Given the description of an element on the screen output the (x, y) to click on. 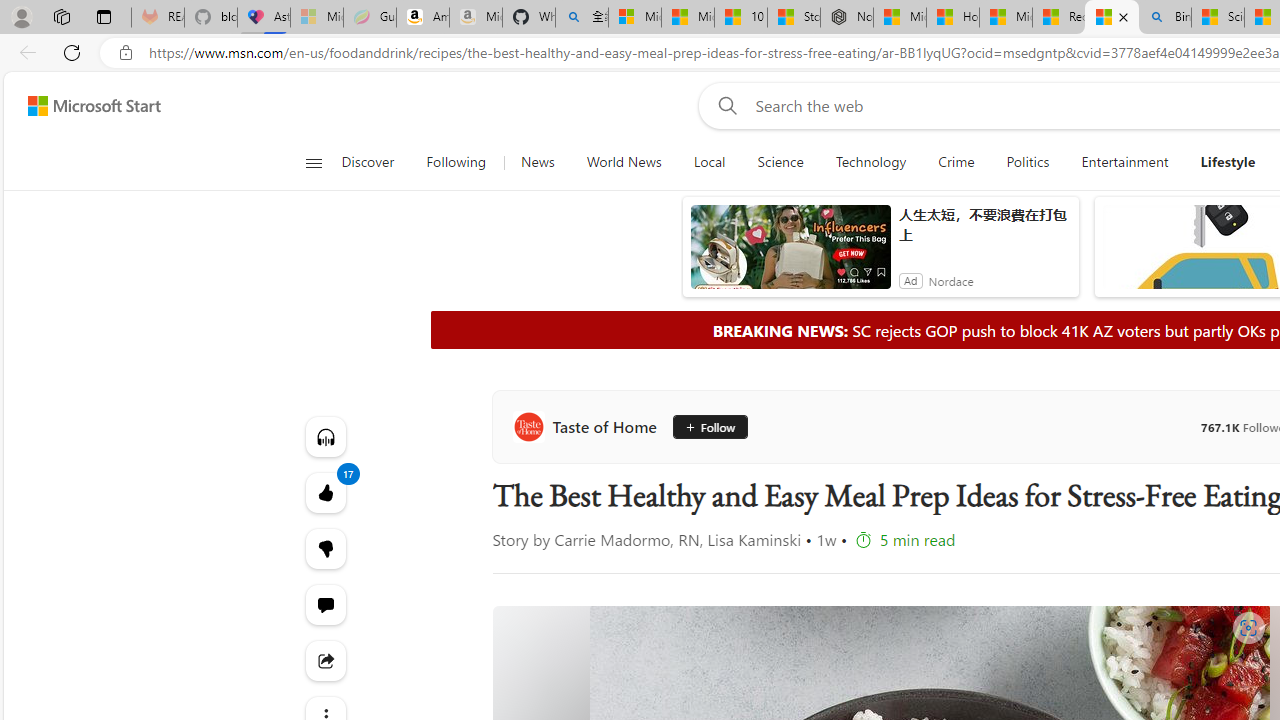
Technology (870, 162)
Recipes - MSN (1059, 17)
Skip to content (86, 105)
World News (623, 162)
Share this story (324, 660)
Science - MSN (1217, 17)
World News (623, 162)
Skip to footer (82, 105)
